Given the description of an element on the screen output the (x, y) to click on. 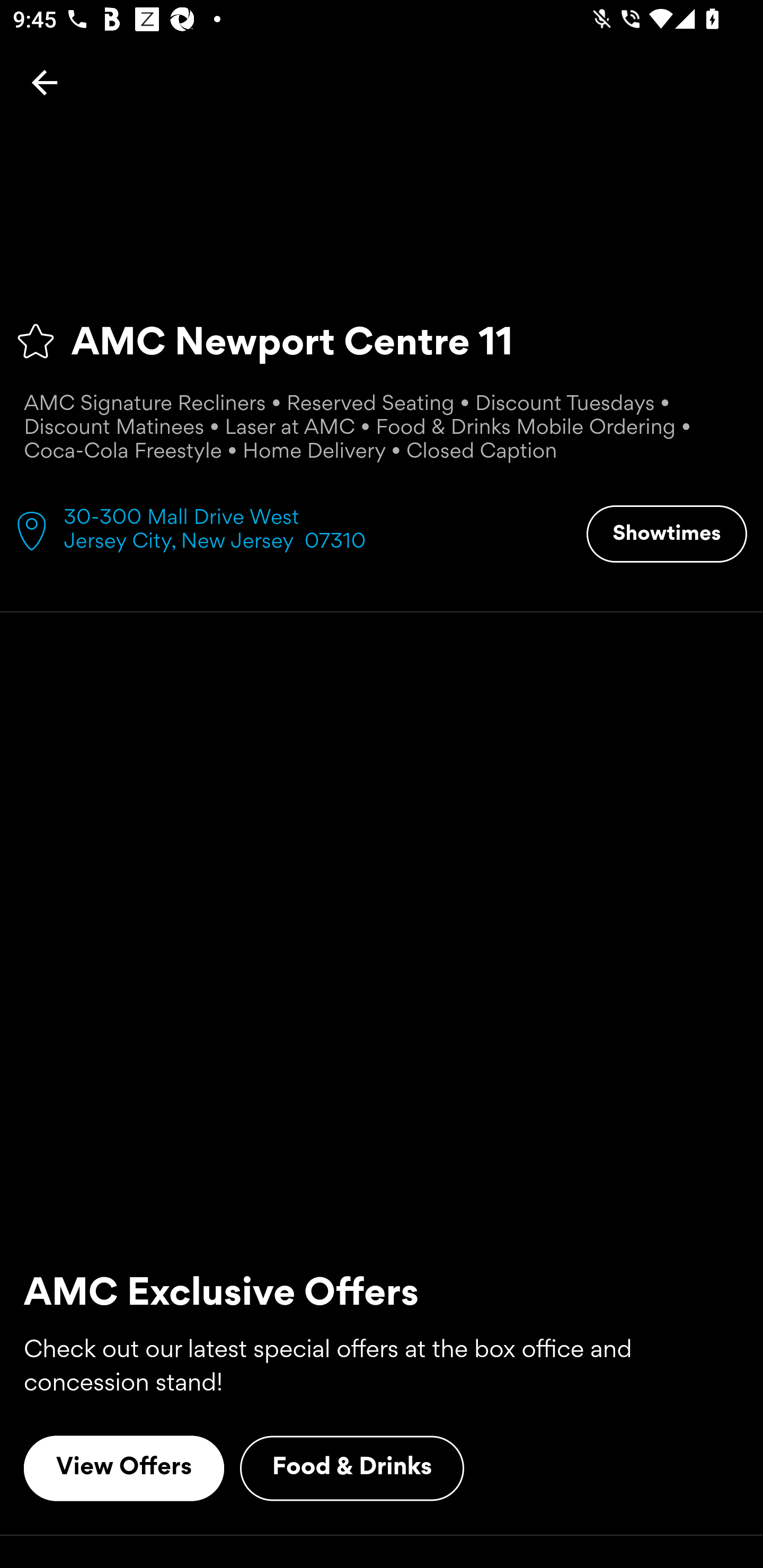
Back (44, 82)
AMC Newport Centre 11 (381, 340)
Showtimes (666, 533)
View Offers (123, 1468)
Food & Drinks (351, 1468)
